Given the description of an element on the screen output the (x, y) to click on. 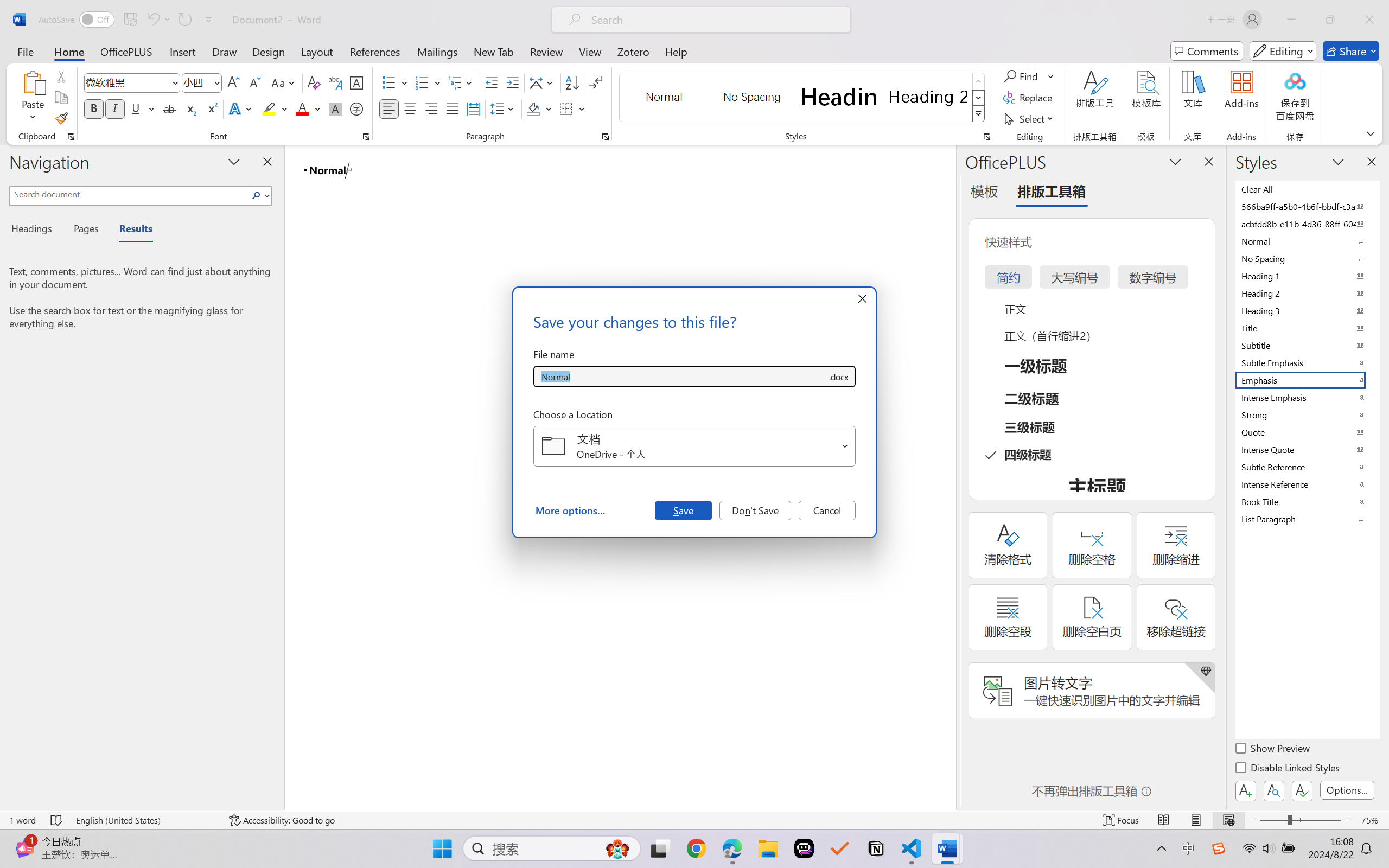
Paste (33, 97)
Italic (115, 108)
Language English (United States) (144, 819)
Poe (804, 848)
Headings (35, 229)
Emphasis (1306, 379)
AutoSave (76, 19)
Font... (365, 136)
Find (1022, 75)
Underline (135, 108)
New Tab (493, 51)
Focus  (1121, 819)
Subtle Emphasis (1306, 362)
